Given the description of an element on the screen output the (x, y) to click on. 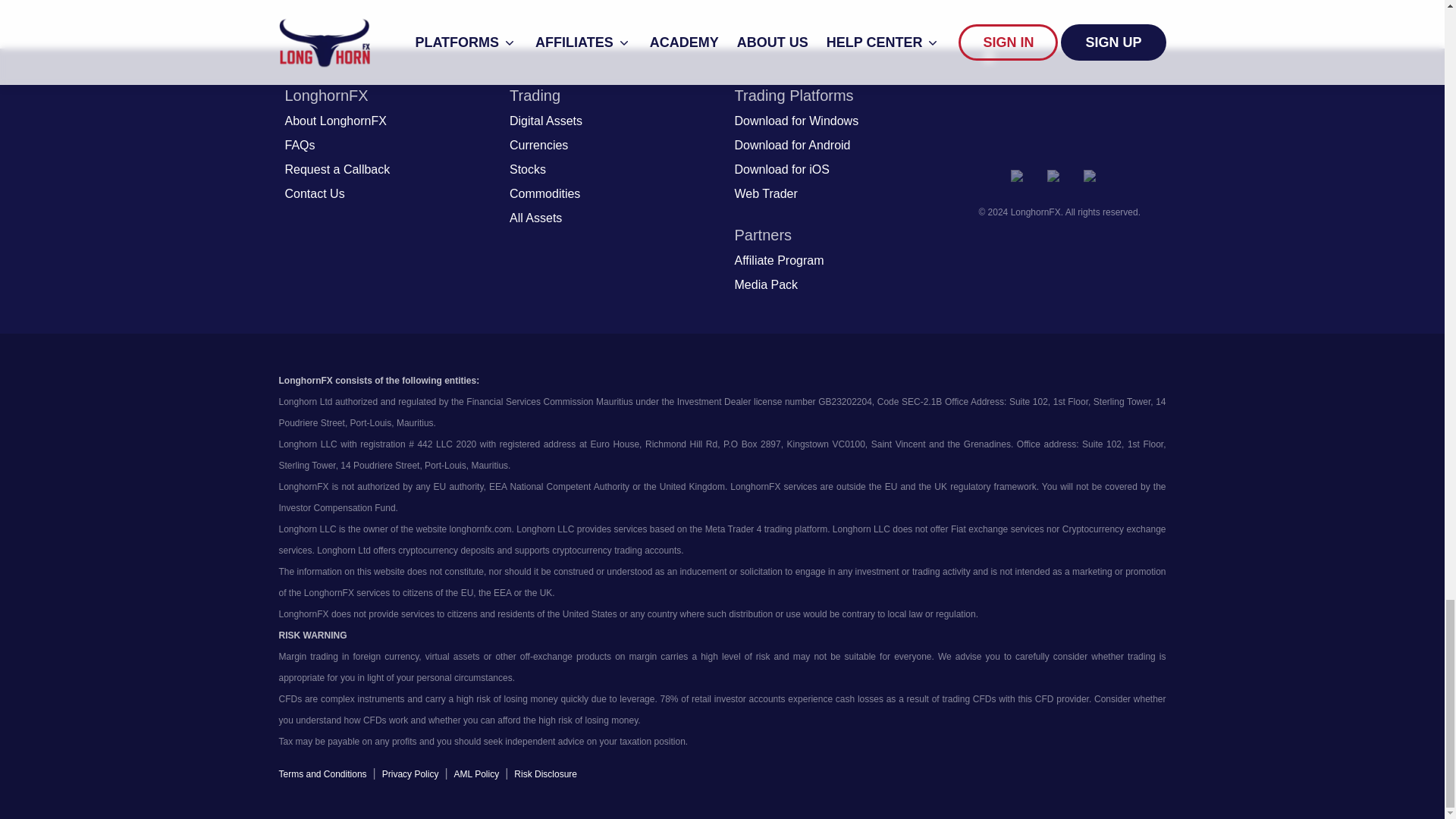
About LonghornFX (336, 121)
AML Policy (476, 774)
Stocks (527, 169)
FAQs (300, 145)
Terms and Conditions (322, 774)
Currencies (538, 145)
Digital Assets (545, 121)
Download for iOS (780, 169)
Web Trader (764, 194)
Commodities (544, 194)
All Assets (535, 218)
Privacy Policy (410, 774)
Download for Android (791, 145)
Affiliate Program (778, 260)
Download for Windows (796, 121)
